Given the description of an element on the screen output the (x, y) to click on. 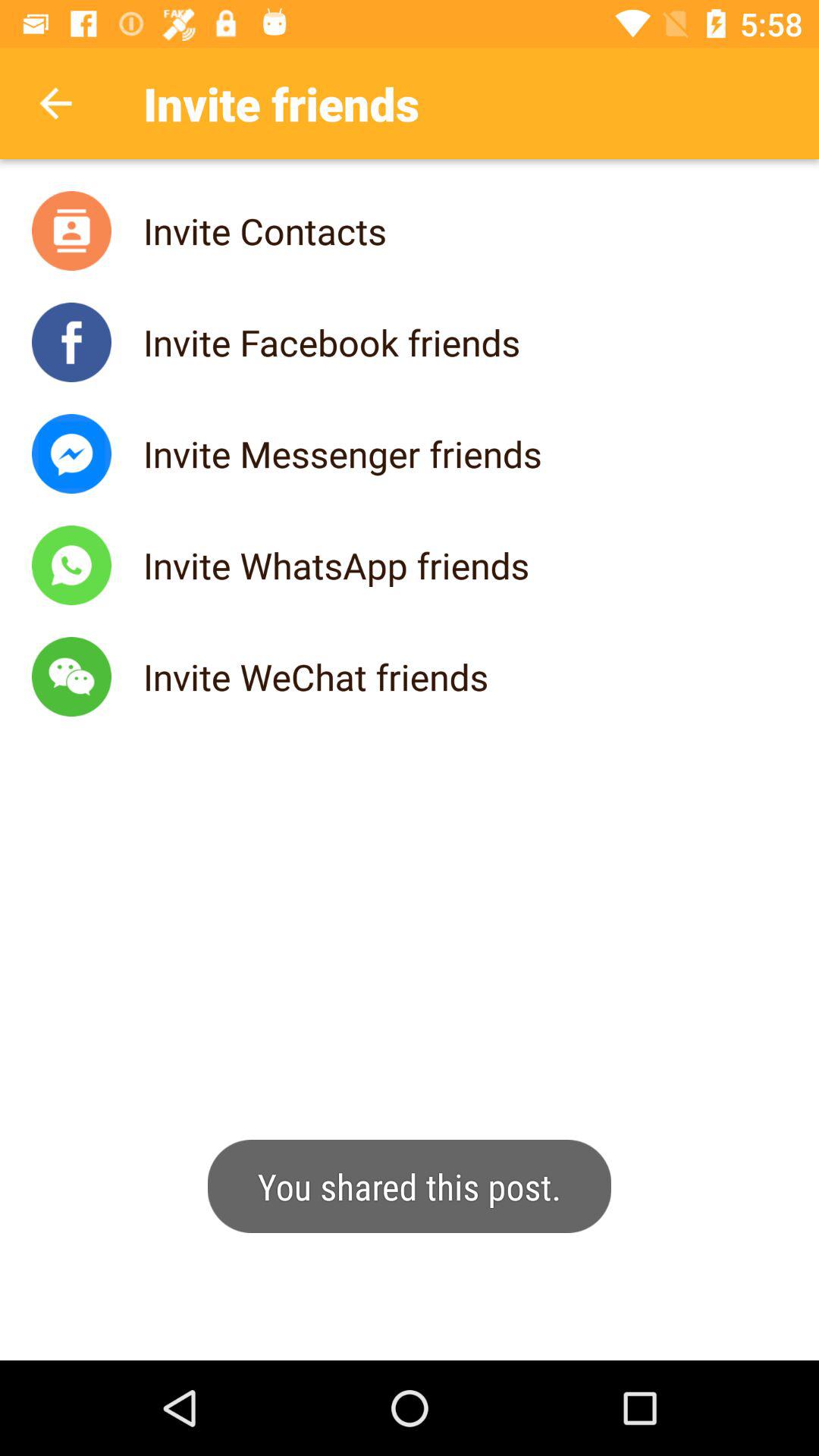
go back (55, 103)
